Given the description of an element on the screen output the (x, y) to click on. 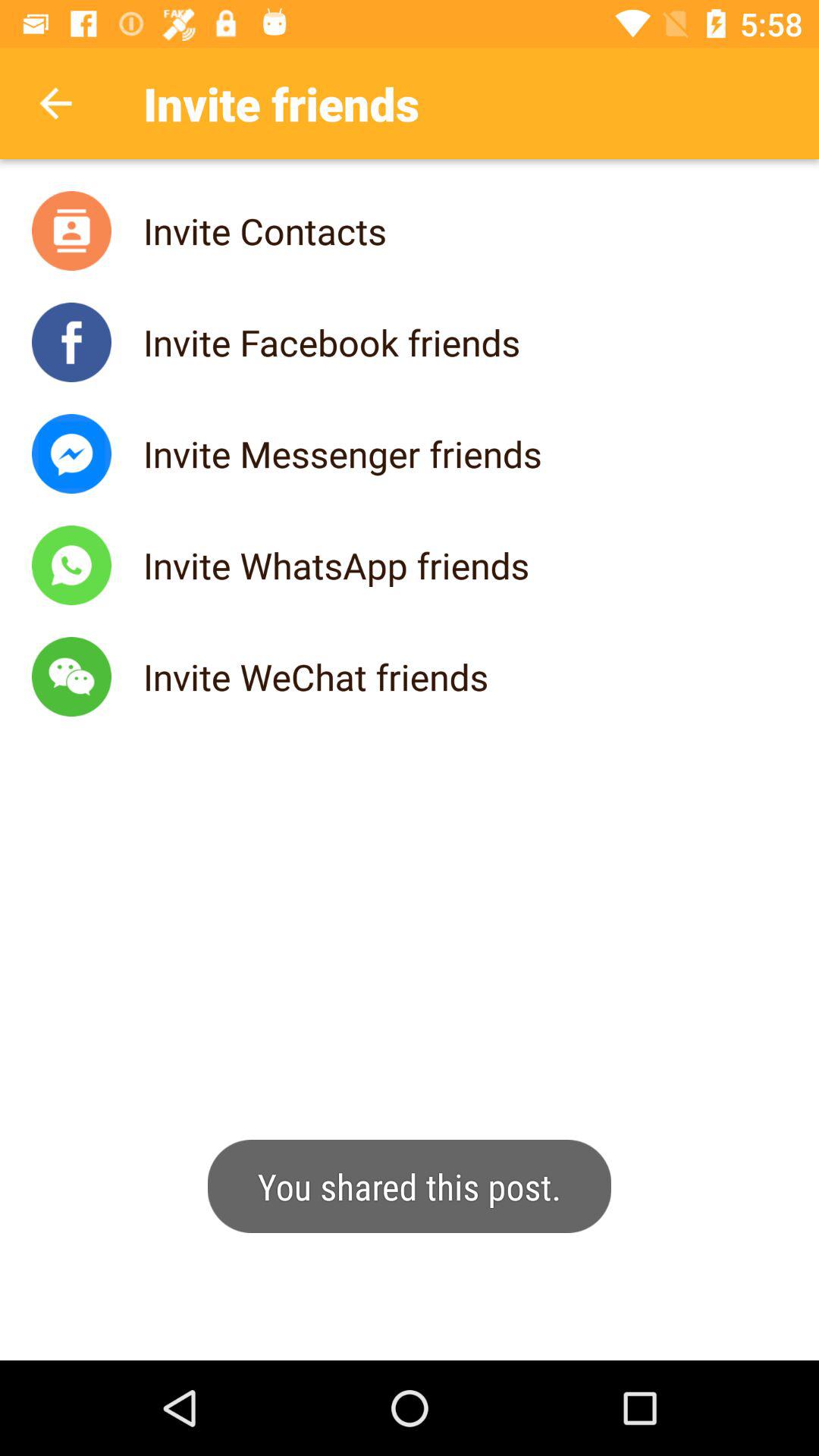
go back (55, 103)
